Given the description of an element on the screen output the (x, y) to click on. 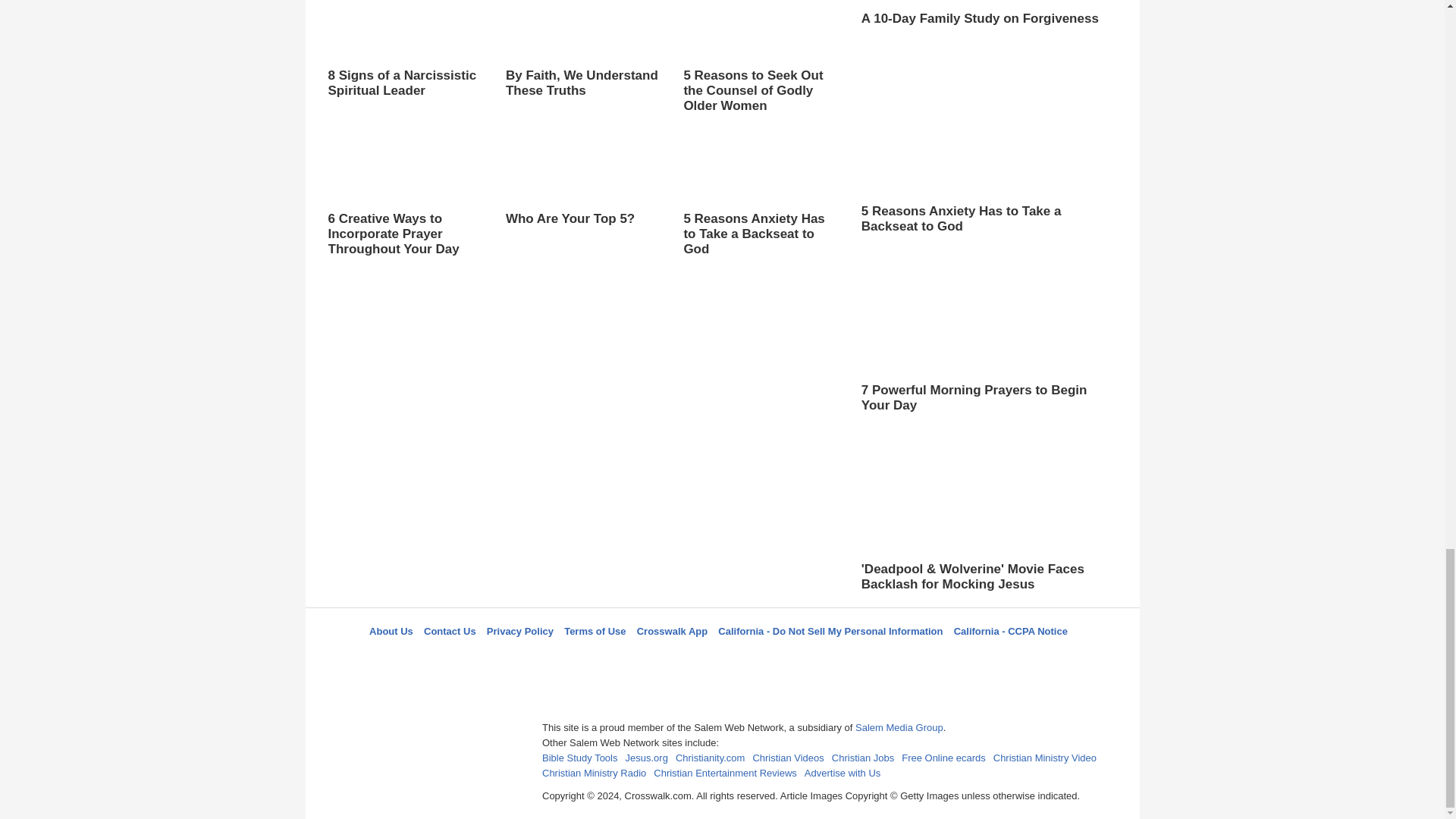
Facebook (645, 658)
LifeAudio (719, 658)
Pinterest (757, 658)
5 Reasons to Seek Out the Counsel of Godly Older Women (760, 56)
Twitter (683, 658)
Who Are Your Top 5? (583, 191)
6 Creative Ways to Incorporate Prayer Throughout Your Day (404, 192)
8 Signs of a Narcissistic Spiritual Leader (404, 49)
YouTube (795, 658)
5 Reasons Anxiety Has to Take a Backseat to God (760, 192)
By Faith, We Understand These Truths (583, 63)
